Given the description of an element on the screen output the (x, y) to click on. 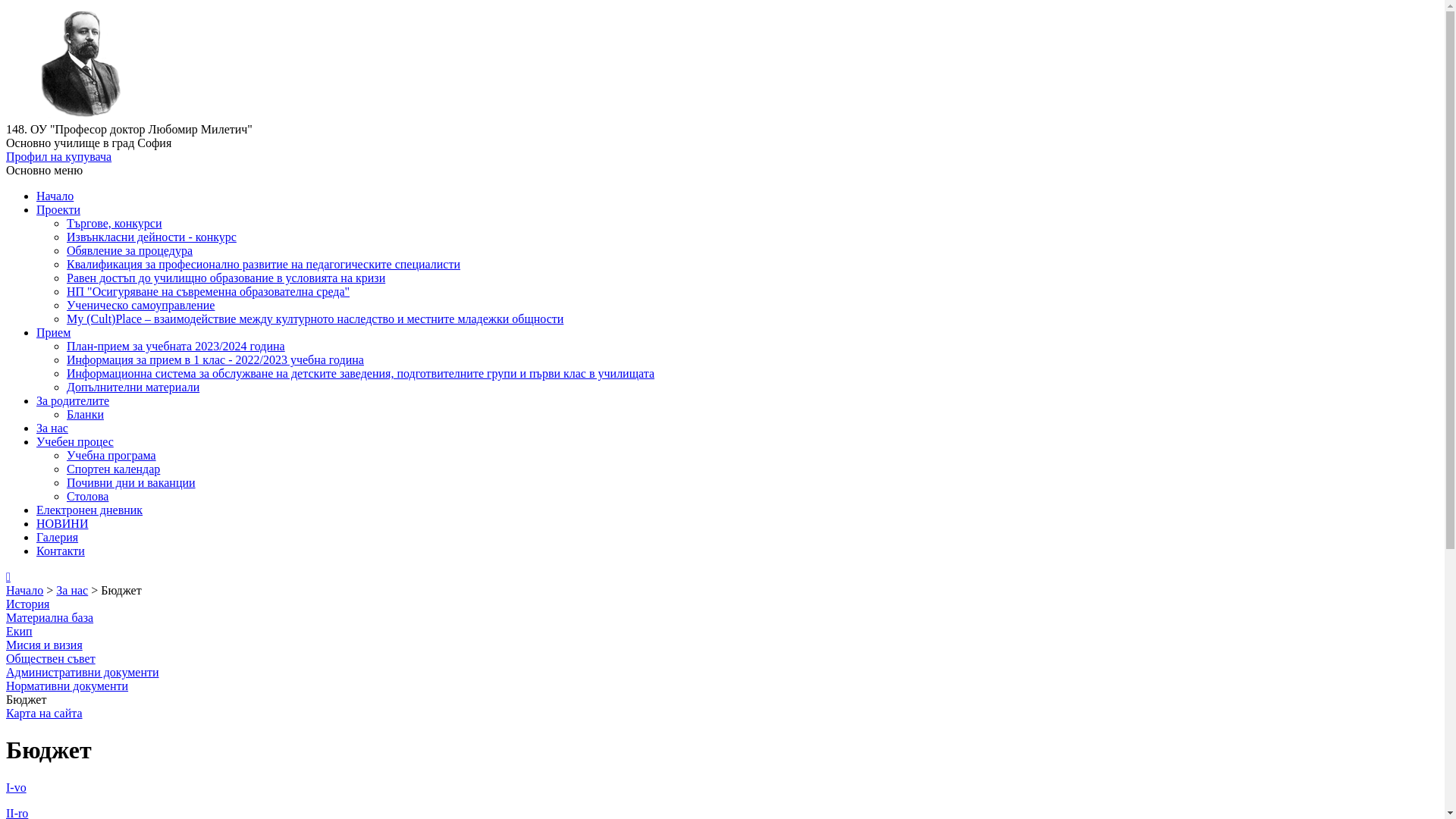
I-vo Element type: text (16, 787)
